Given the description of an element on the screen output the (x, y) to click on. 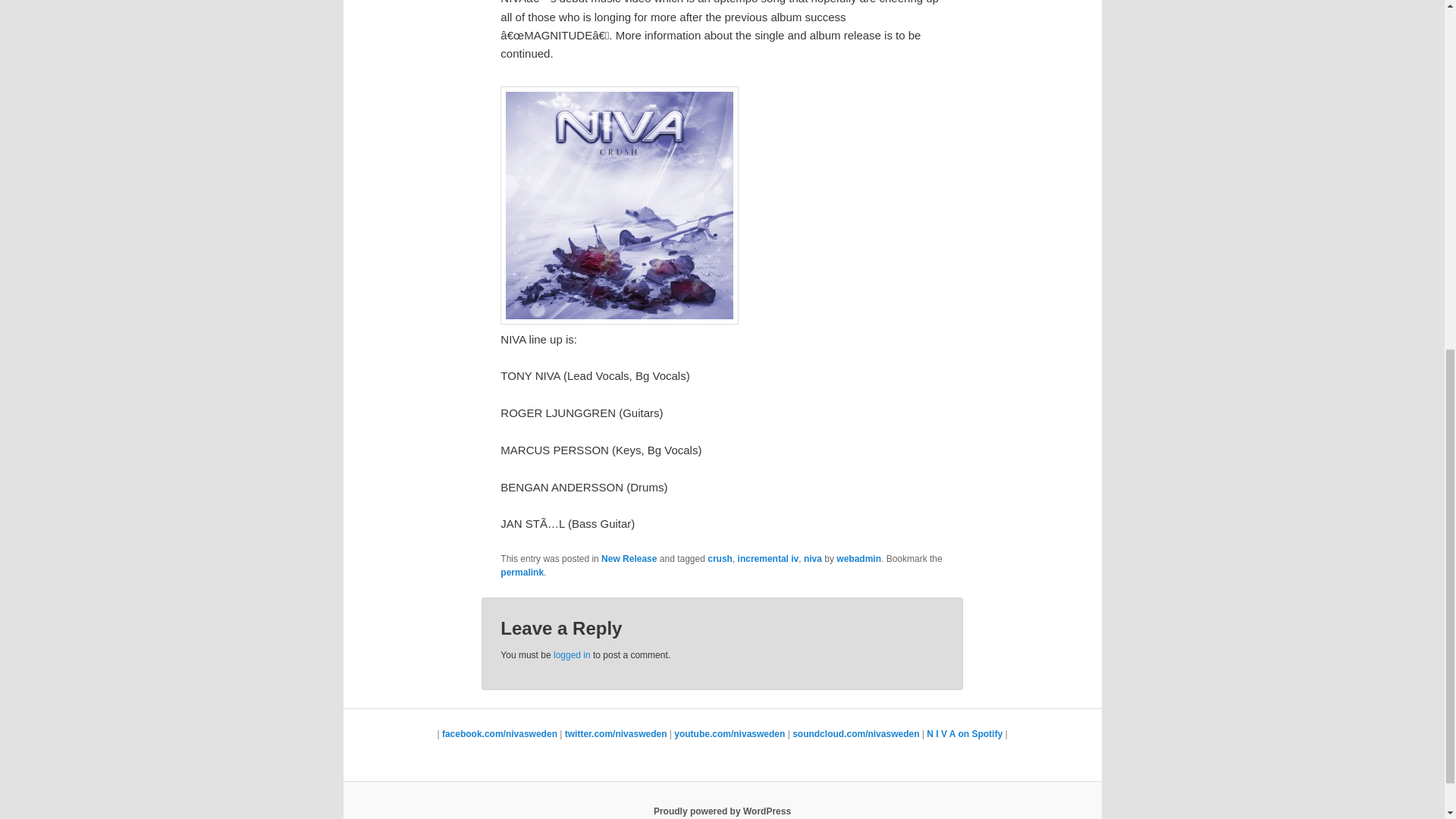
Twitter (615, 733)
incremental iv (768, 558)
permalink (521, 572)
Youtube (855, 733)
Proudly powered by WordPress (721, 810)
logged in (572, 655)
Youtube (964, 733)
niva (812, 558)
crush (719, 558)
webadmin (857, 558)
Semantic Personal Publishing Platform (721, 810)
N I V A on Spotify (964, 733)
Youtube (729, 733)
Facebook (499, 733)
New Release (628, 558)
